Given the description of an element on the screen output the (x, y) to click on. 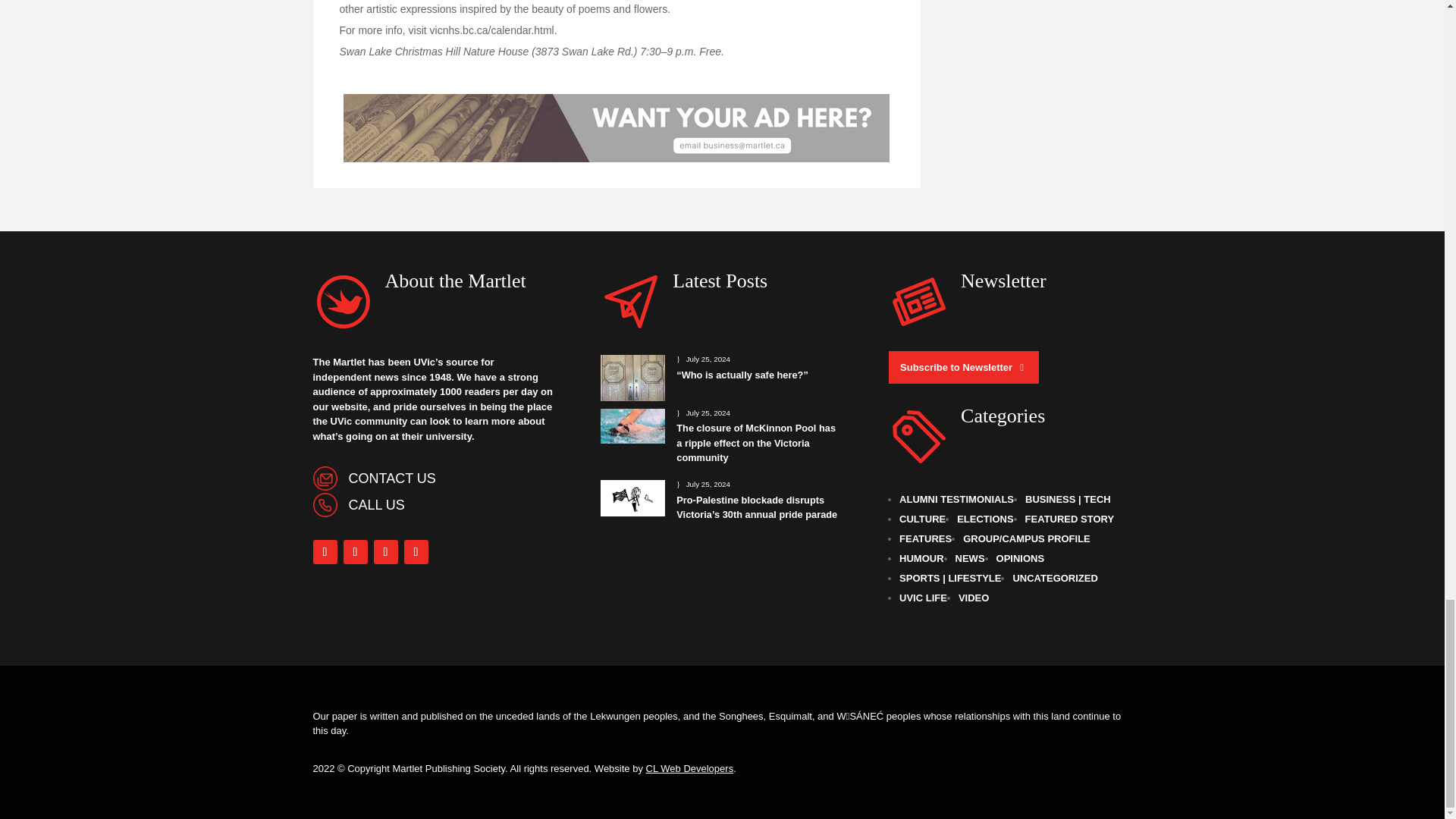
Follow on Instagram (354, 551)
Follow on X (384, 551)
Follow on Facebook (324, 551)
Follow on TikTok (415, 551)
